Given the description of an element on the screen output the (x, y) to click on. 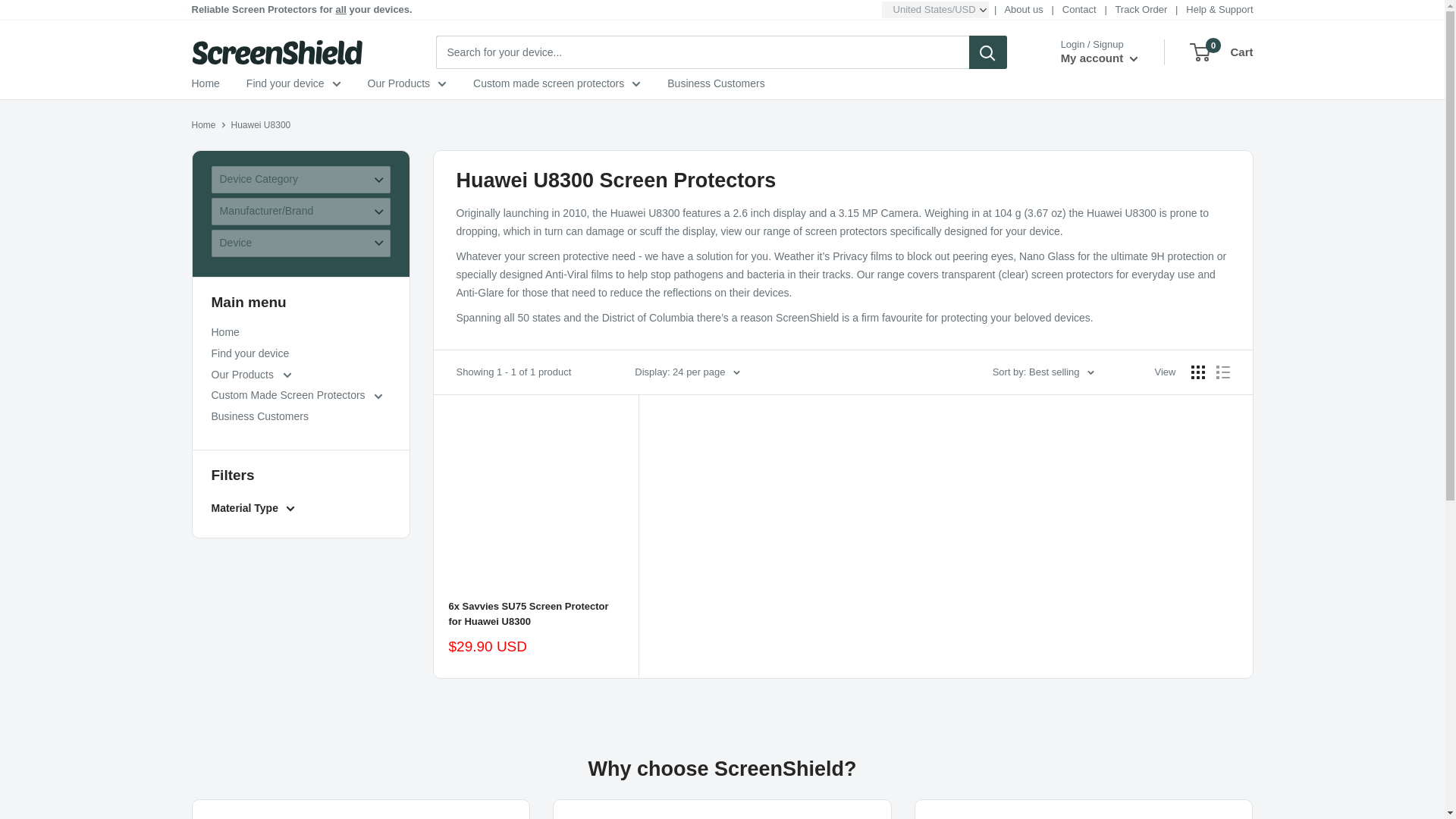
ScreenShield (275, 52)
Contact (1079, 9)
About us (1023, 9)
Home (1221, 52)
Track Order (204, 84)
My account (1141, 9)
Find your device (1099, 57)
